Given the description of an element on the screen output the (x, y) to click on. 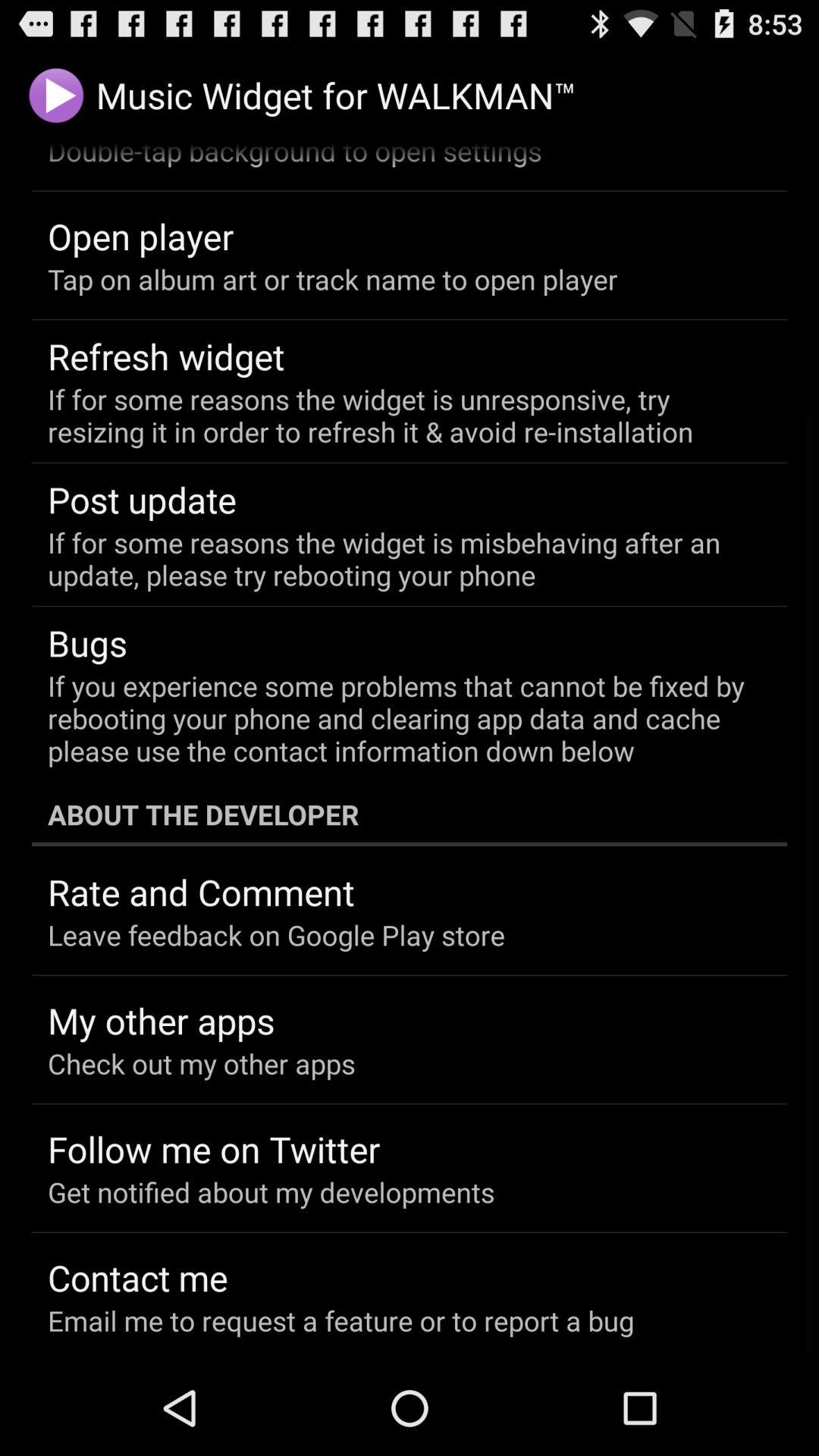
flip until double tap background item (294, 156)
